Given the description of an element on the screen output the (x, y) to click on. 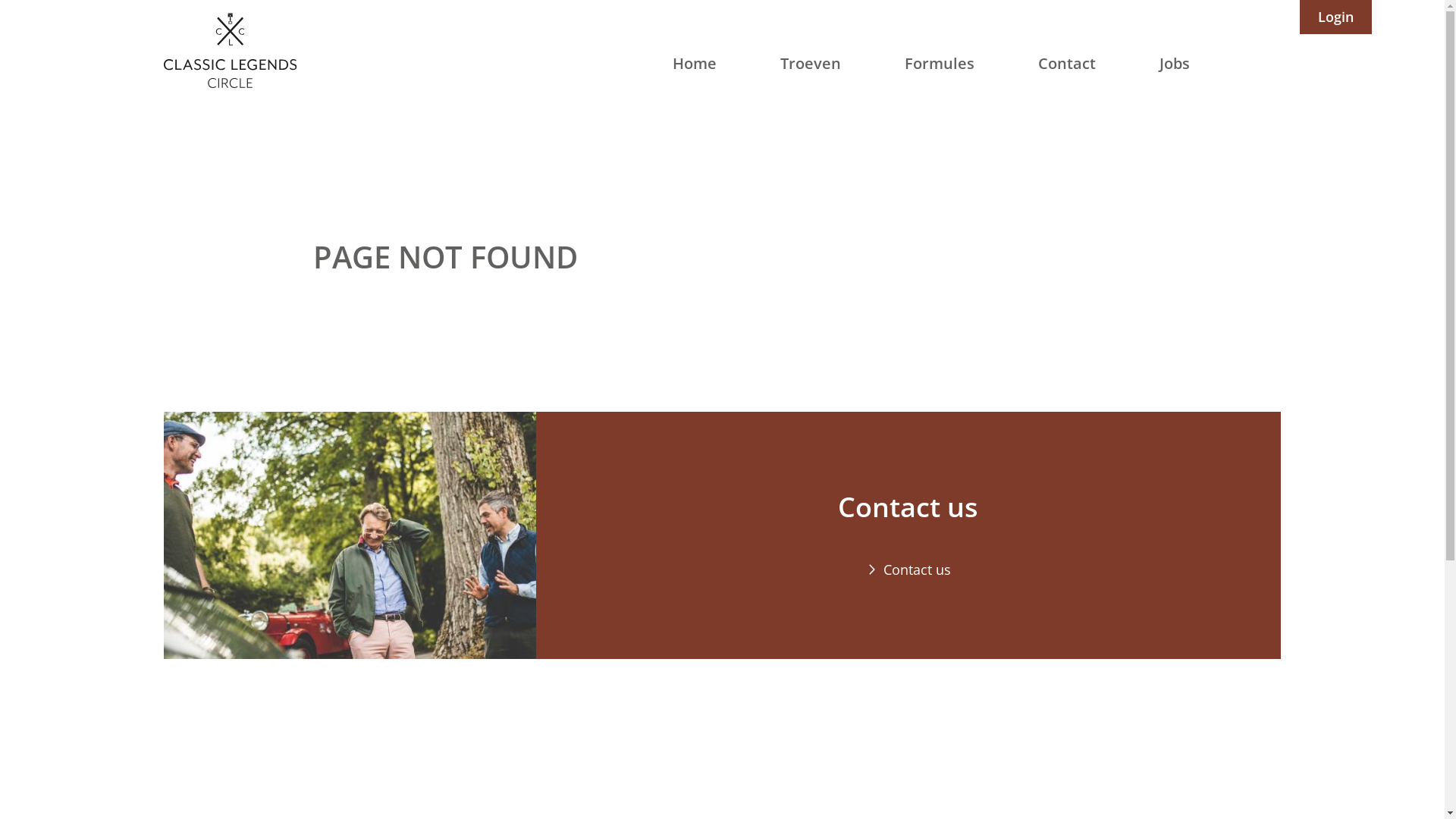
Contact us Element type: text (907, 569)
Contact Element type: text (1066, 63)
Troeven Element type: text (810, 63)
Home Element type: hover (229, 49)
Jobs Element type: text (1174, 63)
Home Element type: text (694, 63)
Login Element type: text (1335, 17)
Formules Element type: text (939, 63)
